Given the description of an element on the screen output the (x, y) to click on. 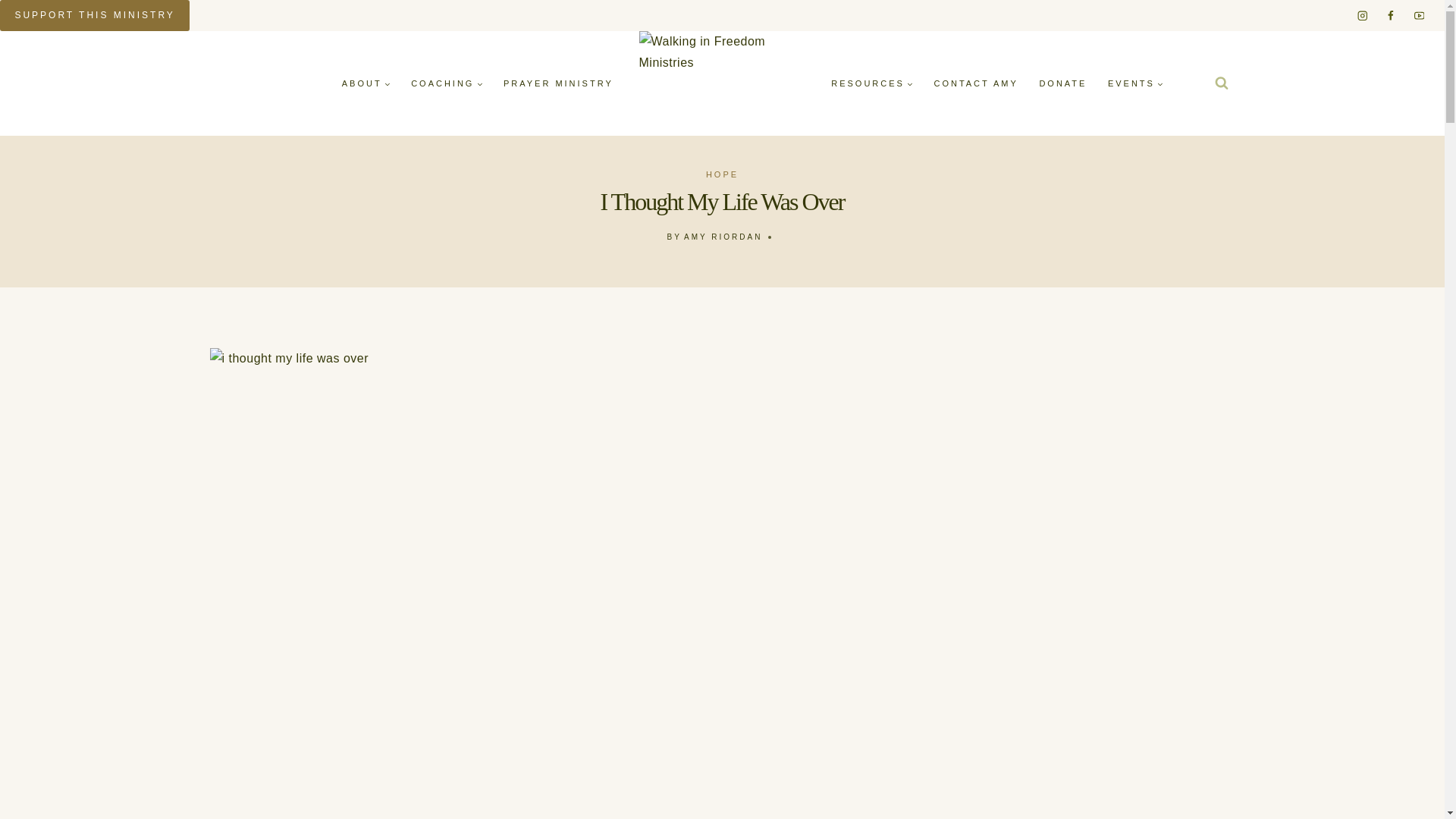
PRAYER MINISTRY (558, 83)
SUPPORT THIS MINISTRY (94, 15)
CONTACT AMY (976, 83)
ABOUT (365, 83)
DONATE (1063, 83)
COACHING (446, 83)
EVENTS (1135, 83)
RESOURCES (872, 83)
